Given the description of an element on the screen output the (x, y) to click on. 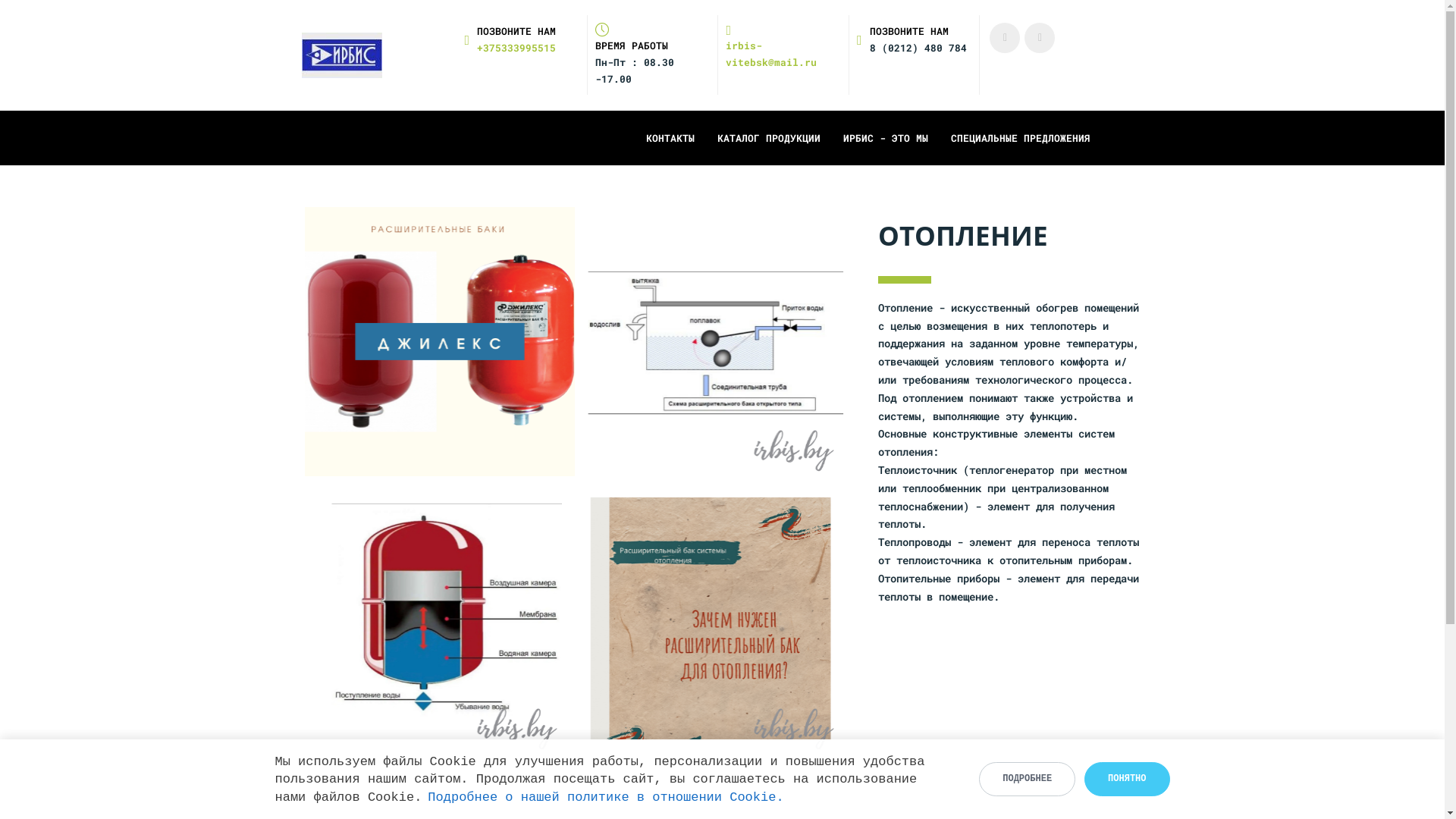
irbis-vitebsk@mail.ru Element type: text (783, 46)
